Given the description of an element on the screen output the (x, y) to click on. 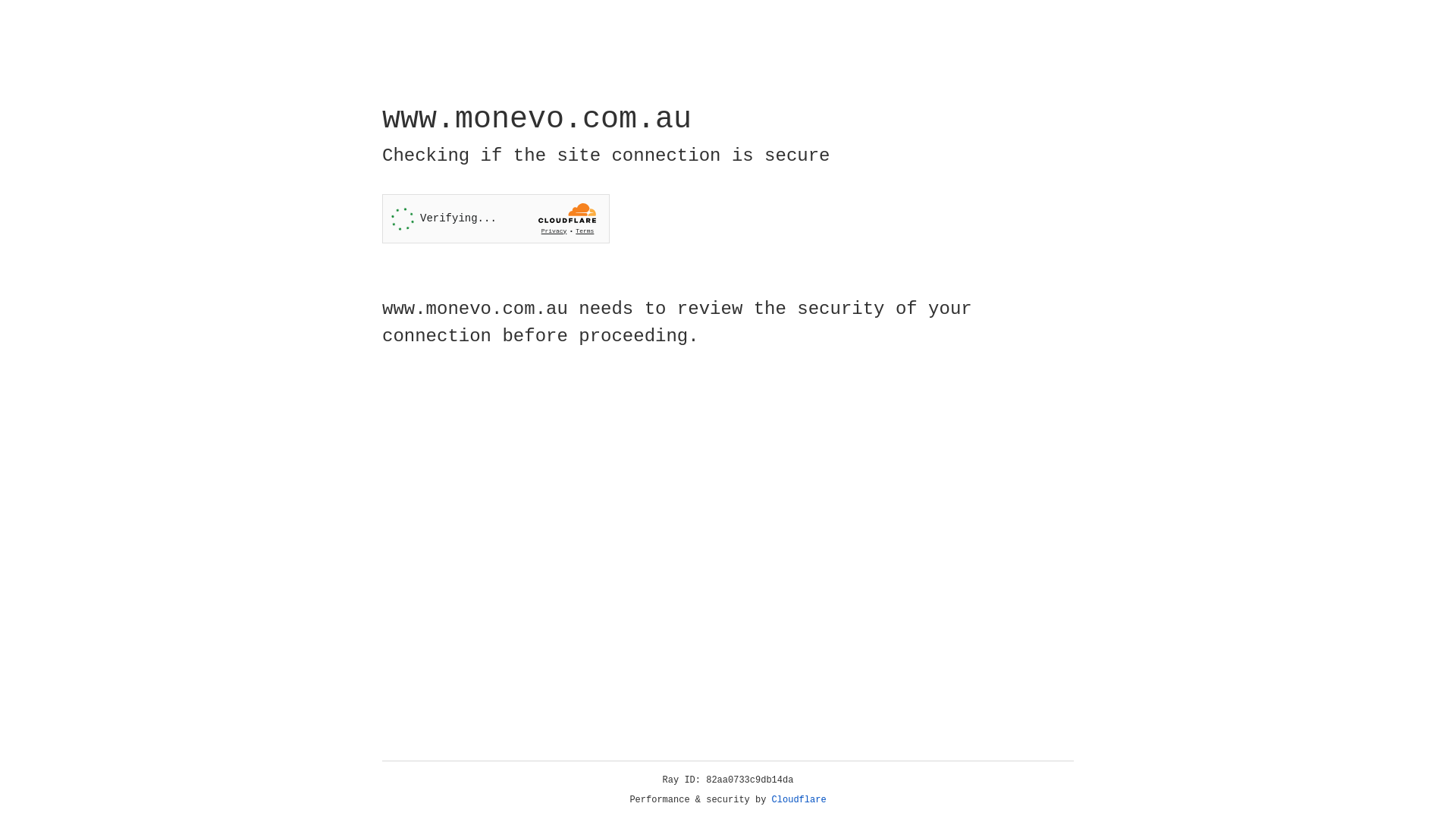
Cloudflare Element type: text (798, 799)
Widget containing a Cloudflare security challenge Element type: hover (495, 218)
